Given the description of an element on the screen output the (x, y) to click on. 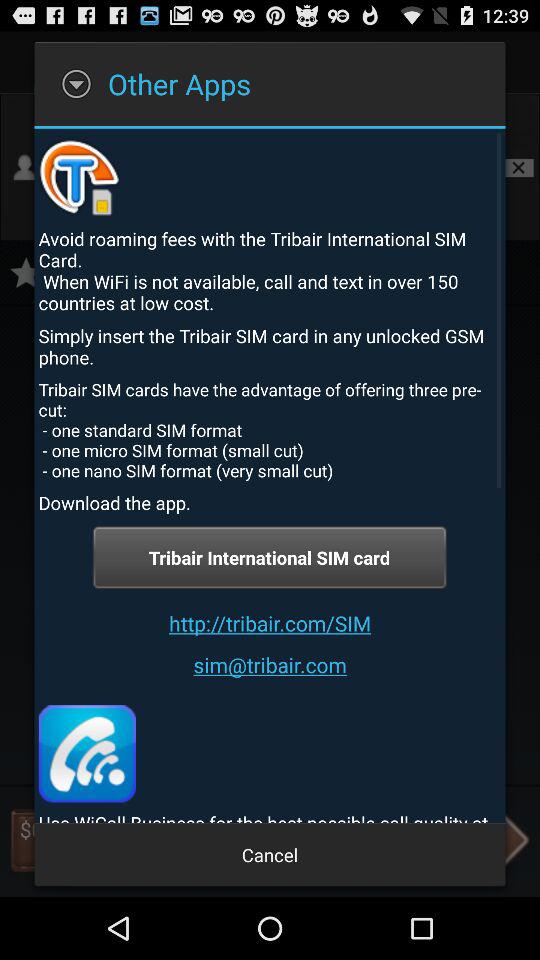
tap http tribair com item (269, 622)
